Given the description of an element on the screen output the (x, y) to click on. 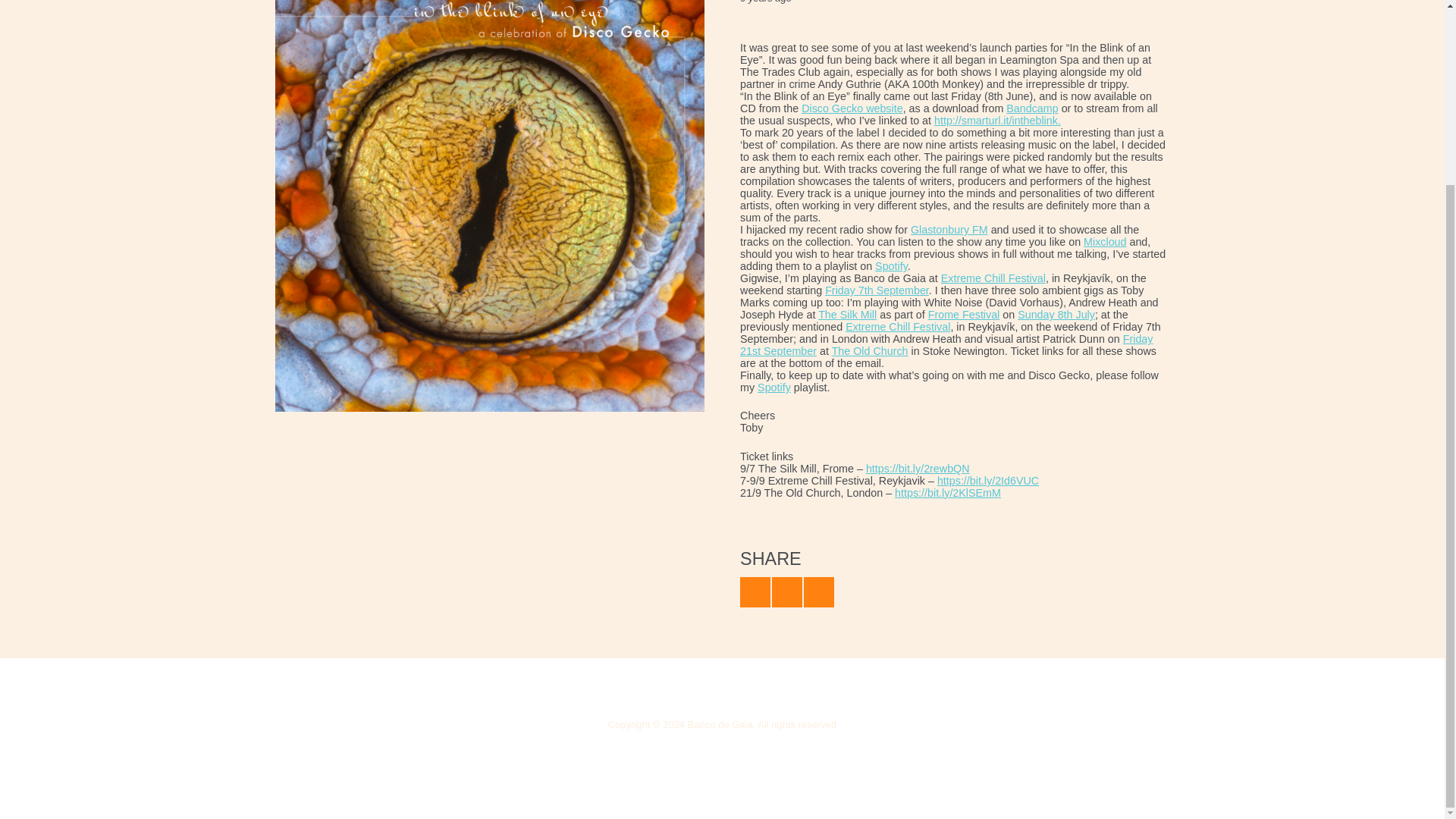
Spotify (891, 265)
Friday 21st September (946, 344)
Spotify (773, 387)
Tweet This (754, 592)
Mixcloud (1104, 241)
Friday 7th September (876, 290)
Frome Festival (964, 314)
Extreme Chill Festival (992, 277)
Share on Facebook (786, 592)
